Given the description of an element on the screen output the (x, y) to click on. 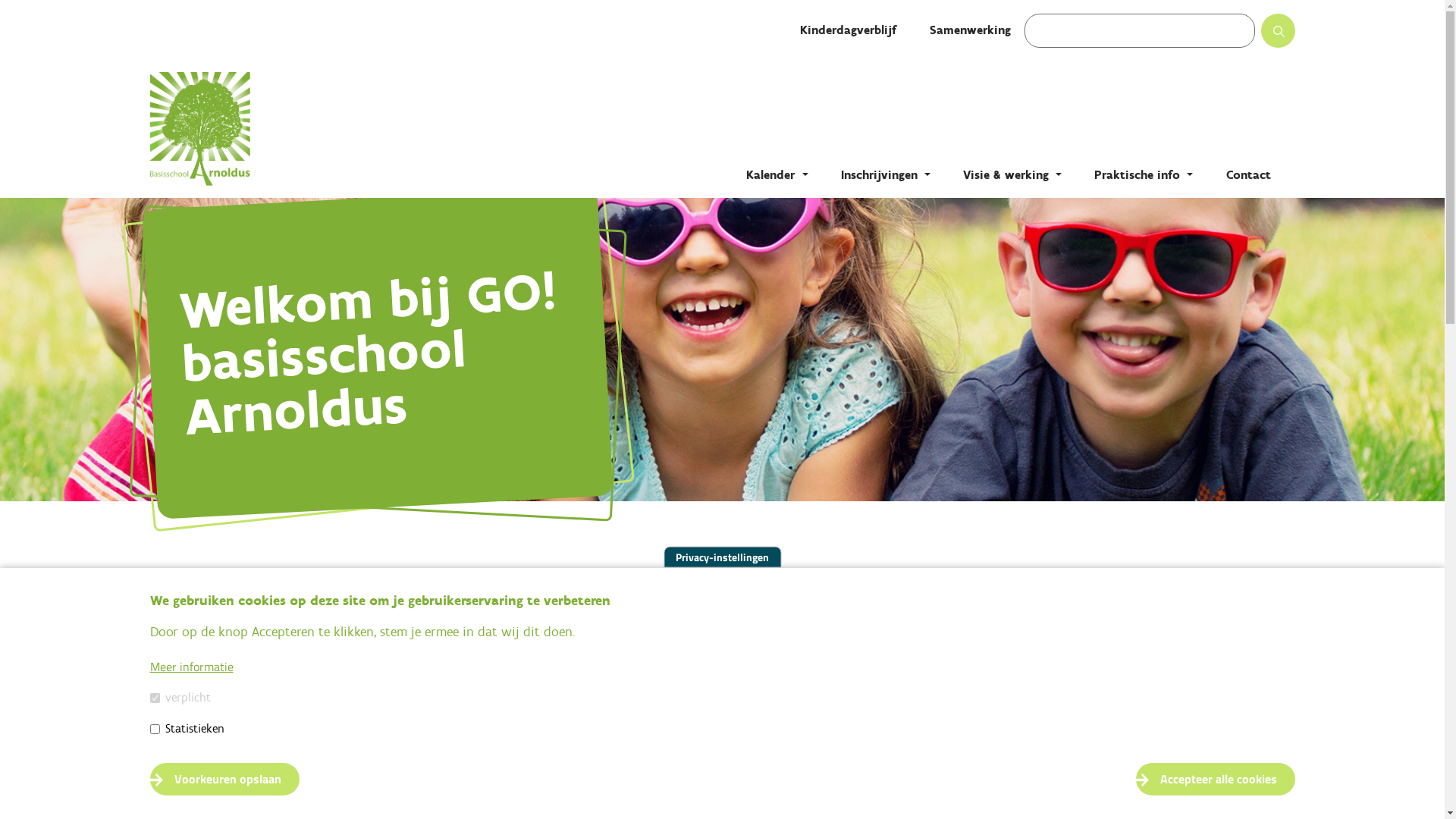
Visie & werking Element type: text (1011, 174)
Toestemming intrekken Element type: text (1314, 770)
Contact Element type: text (1247, 174)
Kalender Element type: text (776, 174)
Praktische info Element type: text (1143, 174)
Accepteer alle cookies Element type: text (1215, 778)
Voorkeuren opslaan Element type: text (224, 778)
Zoeken Element type: text (1291, 35)
Ga naar de homepage Element type: hover (301, 128)
Naar de inhoud Element type: text (0, 0)
Inschrijvingen Element type: text (885, 174)
Privacy-instellingen Element type: text (722, 556)
Meer informatie Element type: text (191, 666)
Samenwerking Element type: text (969, 29)
Kinderdagverblijf Element type: text (847, 29)
